Given the description of an element on the screen output the (x, y) to click on. 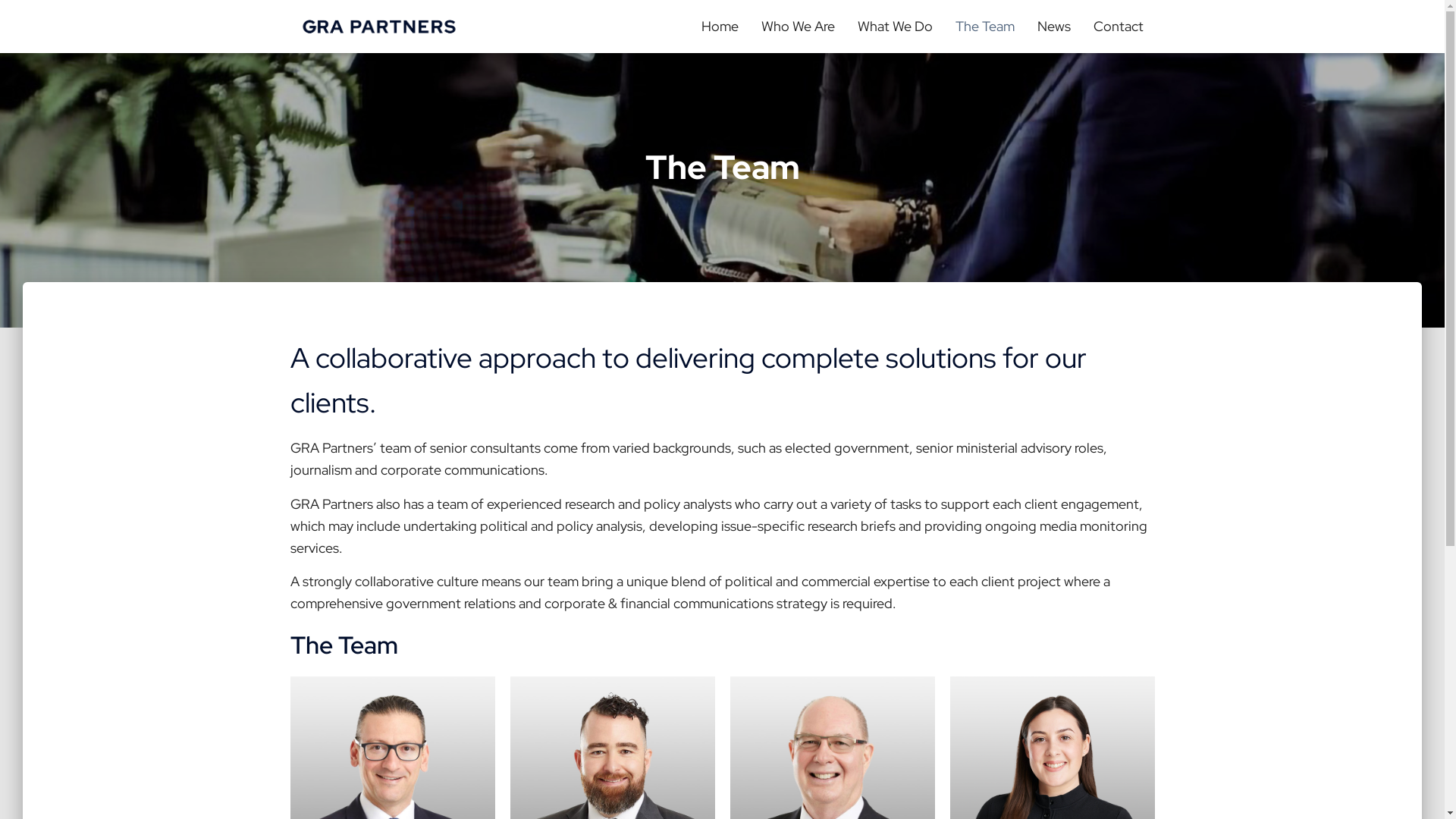
The Team Element type: text (984, 26)
Contact Element type: text (1117, 26)
News Element type: text (1053, 26)
What We Do Element type: text (895, 26)
Home Element type: text (719, 26)
GRA PARTNERS Element type: hover (379, 26)
Who We Are Element type: text (797, 26)
